Given the description of an element on the screen output the (x, y) to click on. 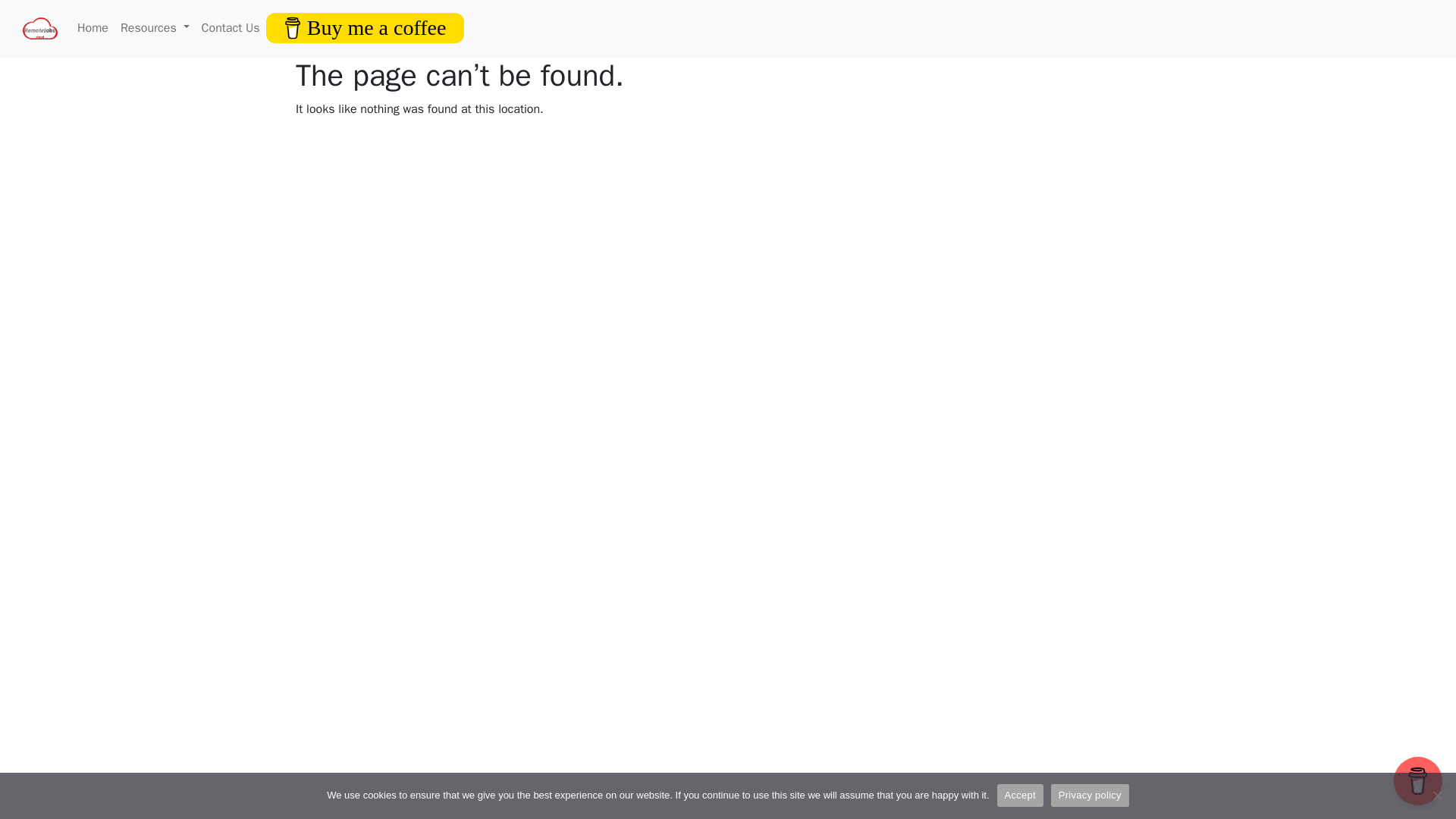
Buy me a coffee (365, 27)
Resources (155, 27)
Contact Us (230, 27)
